Given the description of an element on the screen output the (x, y) to click on. 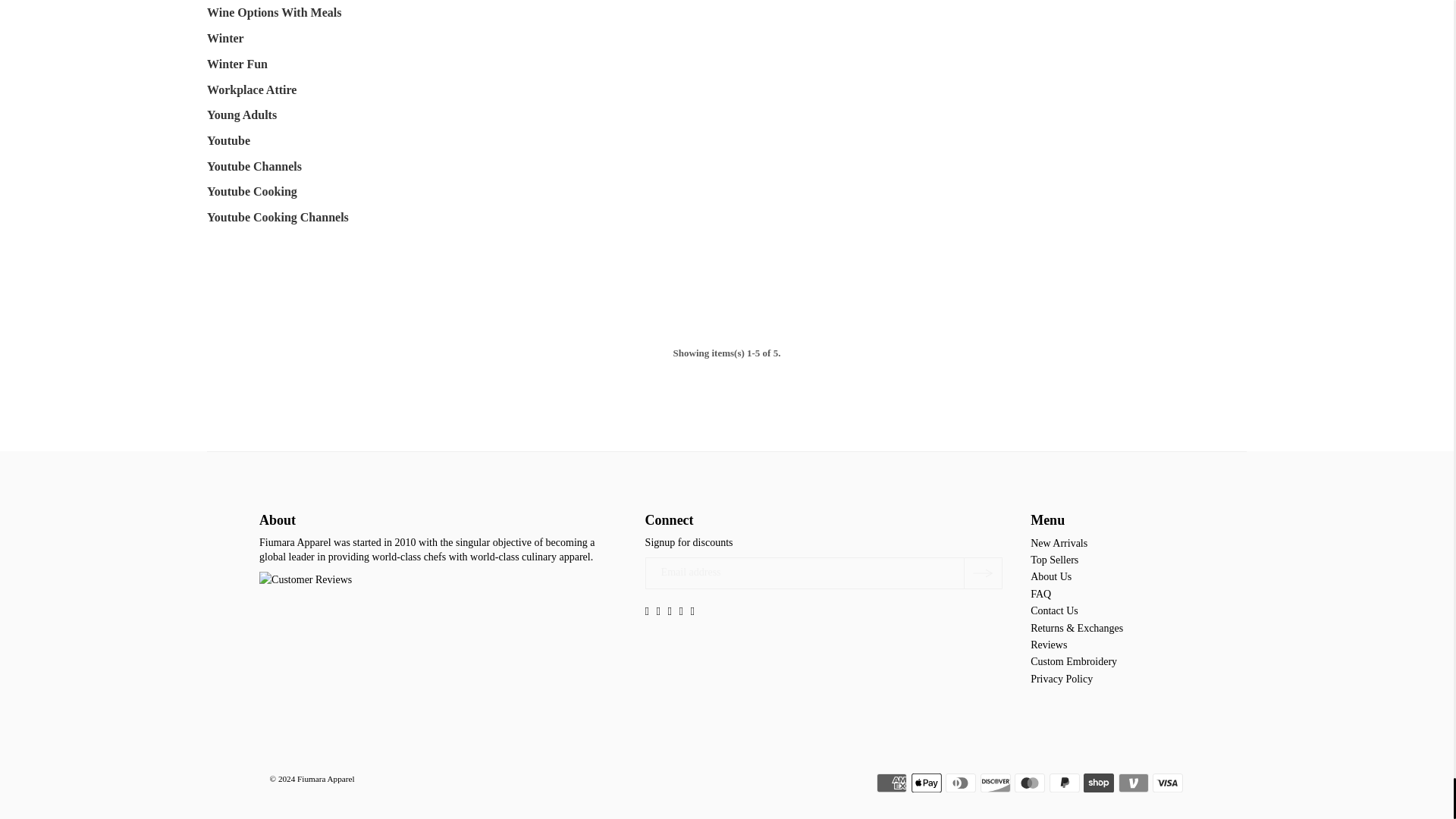
Venmo (1133, 782)
Visa (1167, 782)
American Express (891, 782)
PayPal (1064, 782)
Apple Pay (926, 782)
Shop Pay (1098, 782)
Diners Club (959, 782)
Discover (994, 782)
Mastercard (1029, 782)
